Given the description of an element on the screen output the (x, y) to click on. 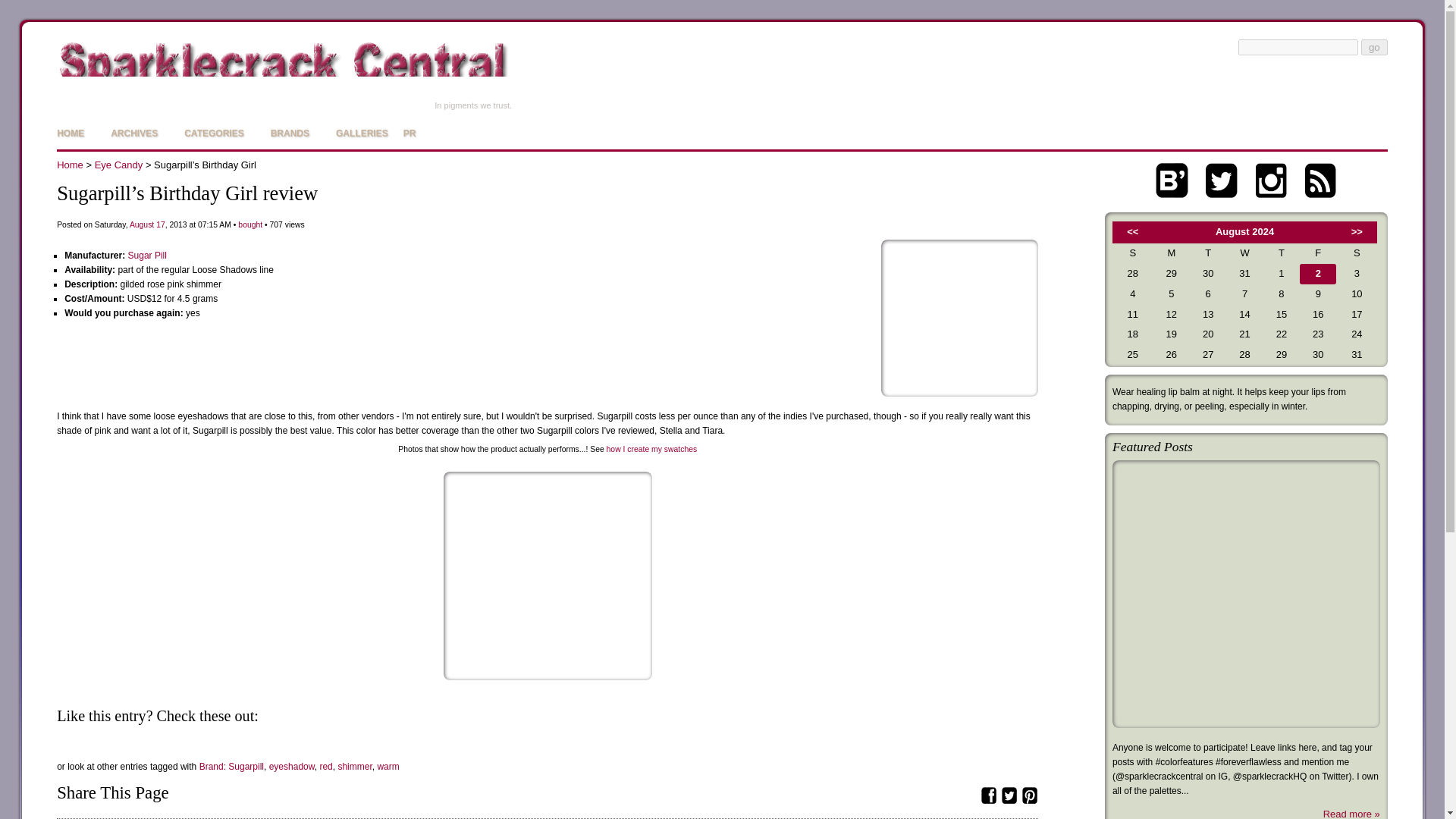
Galleries (356, 133)
HOME (70, 133)
Brands (283, 133)
Archives (128, 133)
BRANDS (283, 133)
go (1374, 47)
ARCHIVES (128, 133)
go (1374, 47)
See all posts for this month (141, 224)
Homepage (70, 133)
CATEGORIES (208, 133)
